Given the description of an element on the screen output the (x, y) to click on. 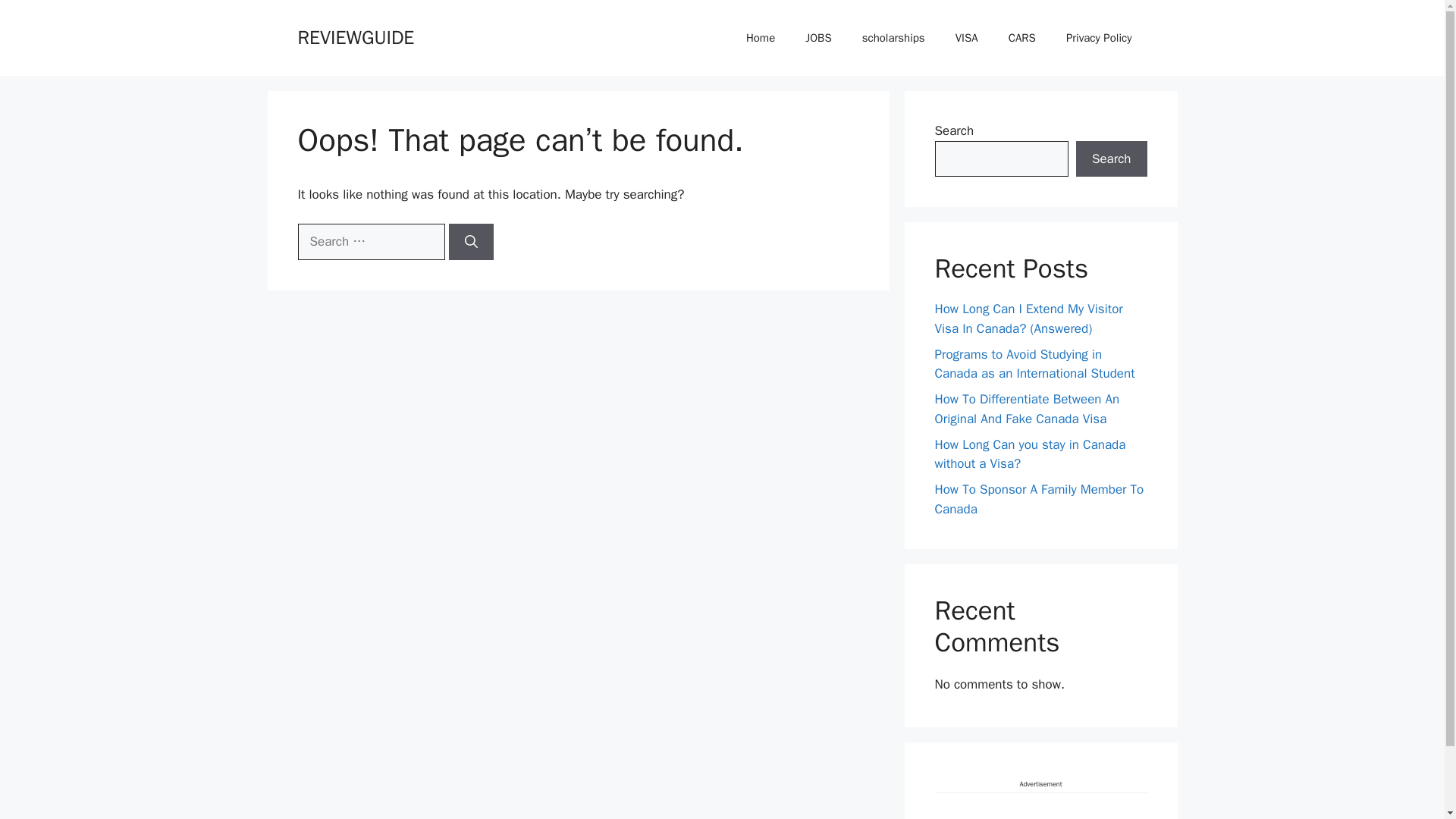
Search for: (370, 241)
VISA (966, 37)
REVIEWGUIDE (355, 37)
How To Sponsor A Family Member To Canada (1038, 498)
Privacy Policy (1099, 37)
CARS (1021, 37)
Search (1111, 158)
scholarships (893, 37)
How Long Can you stay in Canada without a Visa? (1029, 454)
JOBS (817, 37)
Home (760, 37)
